Given the description of an element on the screen output the (x, y) to click on. 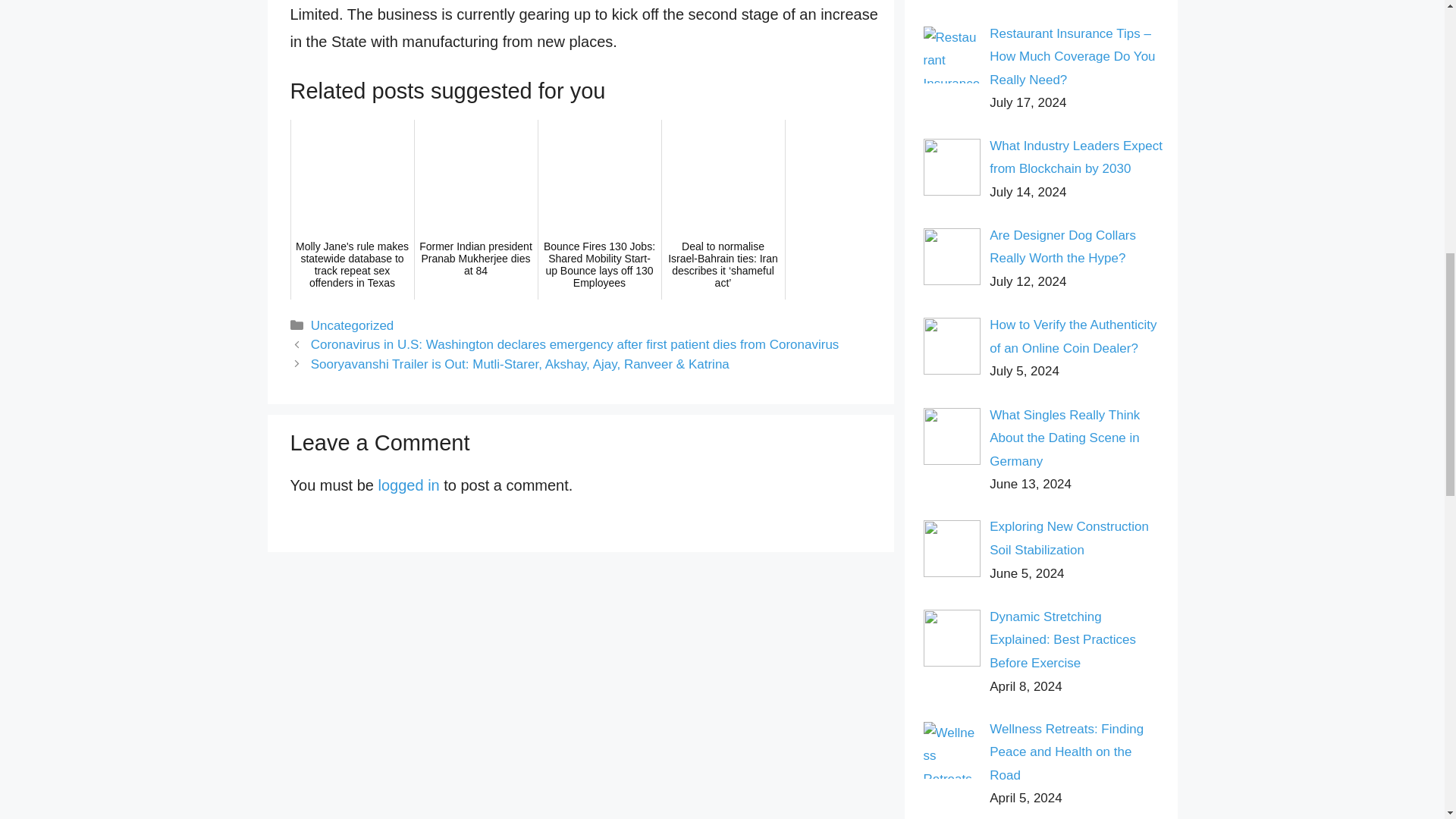
What Industry Leaders Expect from Blockchain by 2030 (1075, 157)
How to Verify the Authenticity of an Online Coin Dealer? (1073, 336)
Scroll back to top (1406, 720)
Dynamic Stretching Explained: Best Practices Before Exercise (1062, 639)
Wellness Retreats: Finding Peace and Health on the Road (1066, 751)
Exploring New Construction Soil Stabilization (1069, 538)
logged in (408, 484)
Uncategorized (352, 325)
What Singles Really Think About the Dating Scene in Germany (1065, 437)
